Given the description of an element on the screen output the (x, y) to click on. 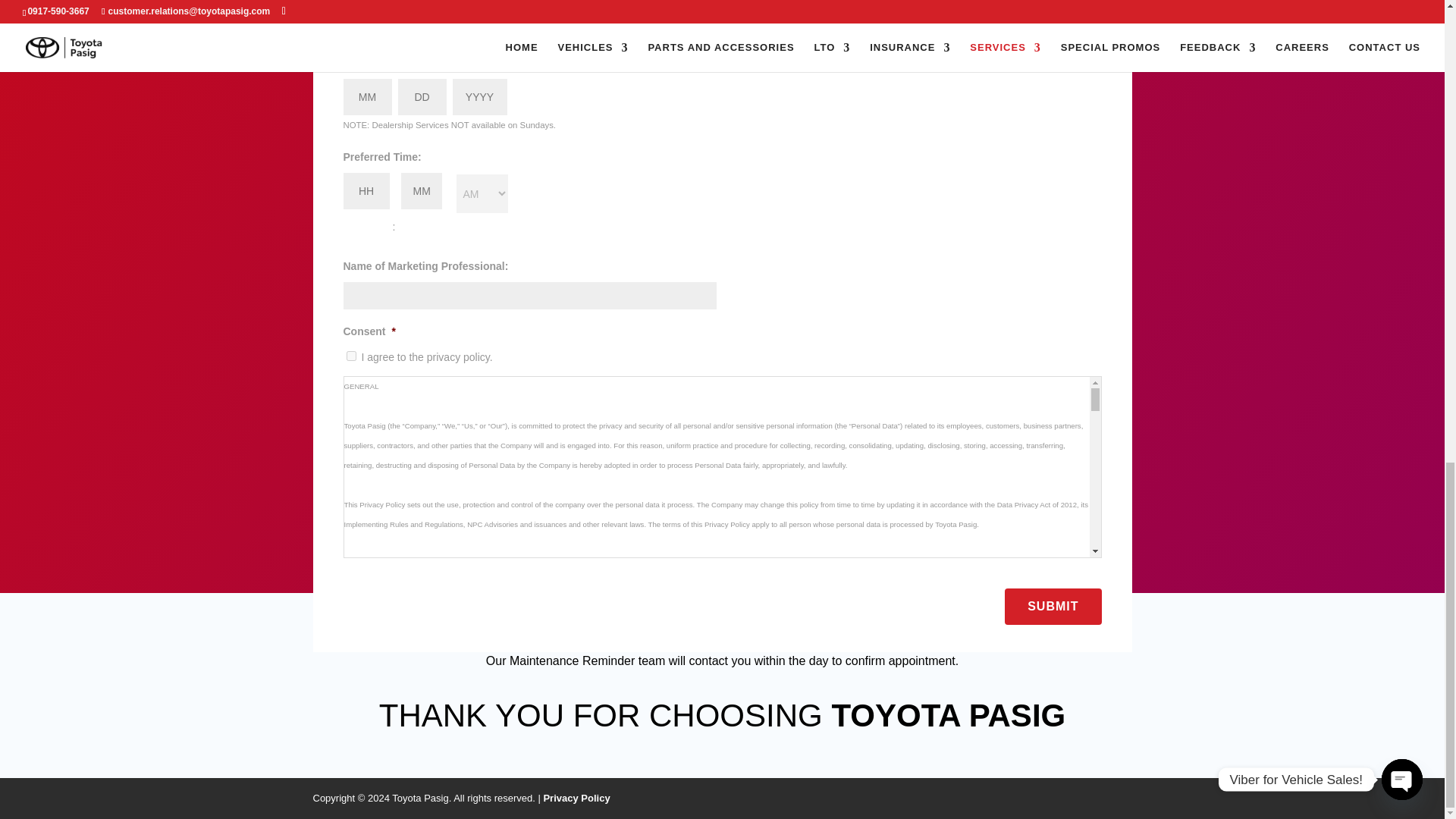
1 (350, 356)
Submit (1052, 606)
